Given the description of an element on the screen output the (x, y) to click on. 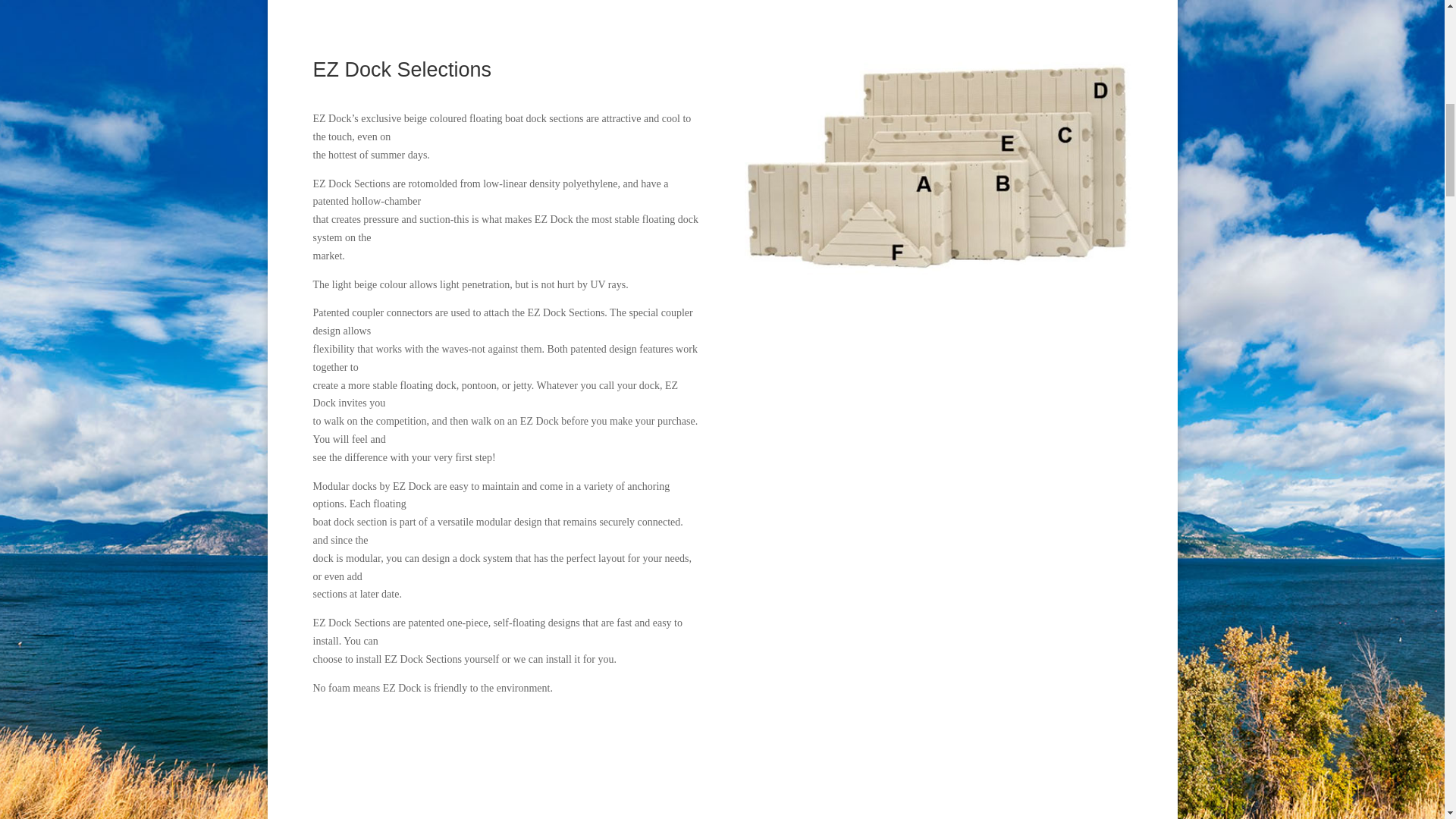
EZ Dock Size Comparison (937, 166)
